Given the description of an element on the screen output the (x, y) to click on. 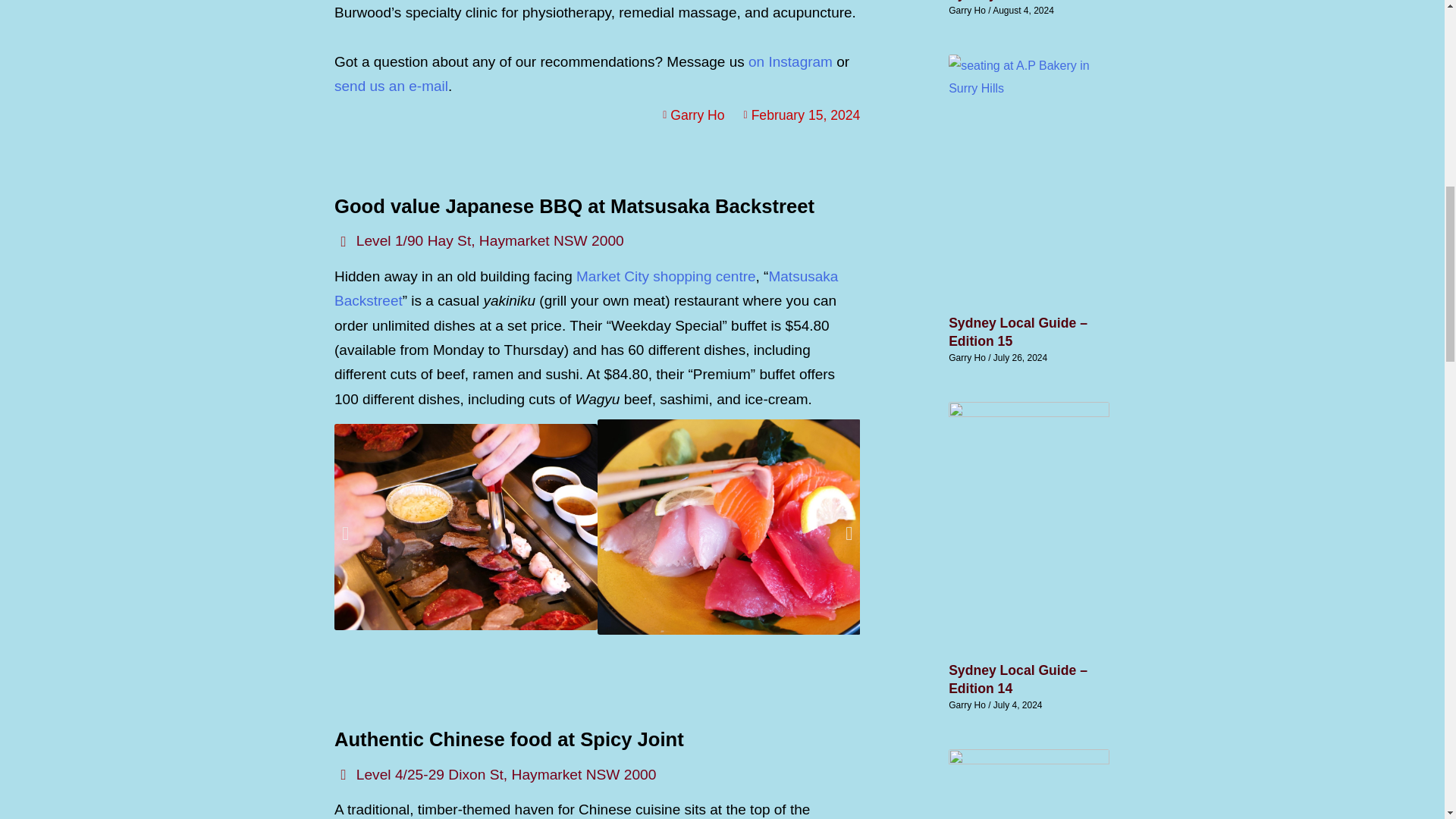
Matsusaka Backstreet (586, 288)
February 15, 2024 (798, 115)
Market City shopping centre (665, 276)
send us an e-mail (391, 85)
Garry Ho (689, 115)
on Instagram (790, 61)
